Given the description of an element on the screen output the (x, y) to click on. 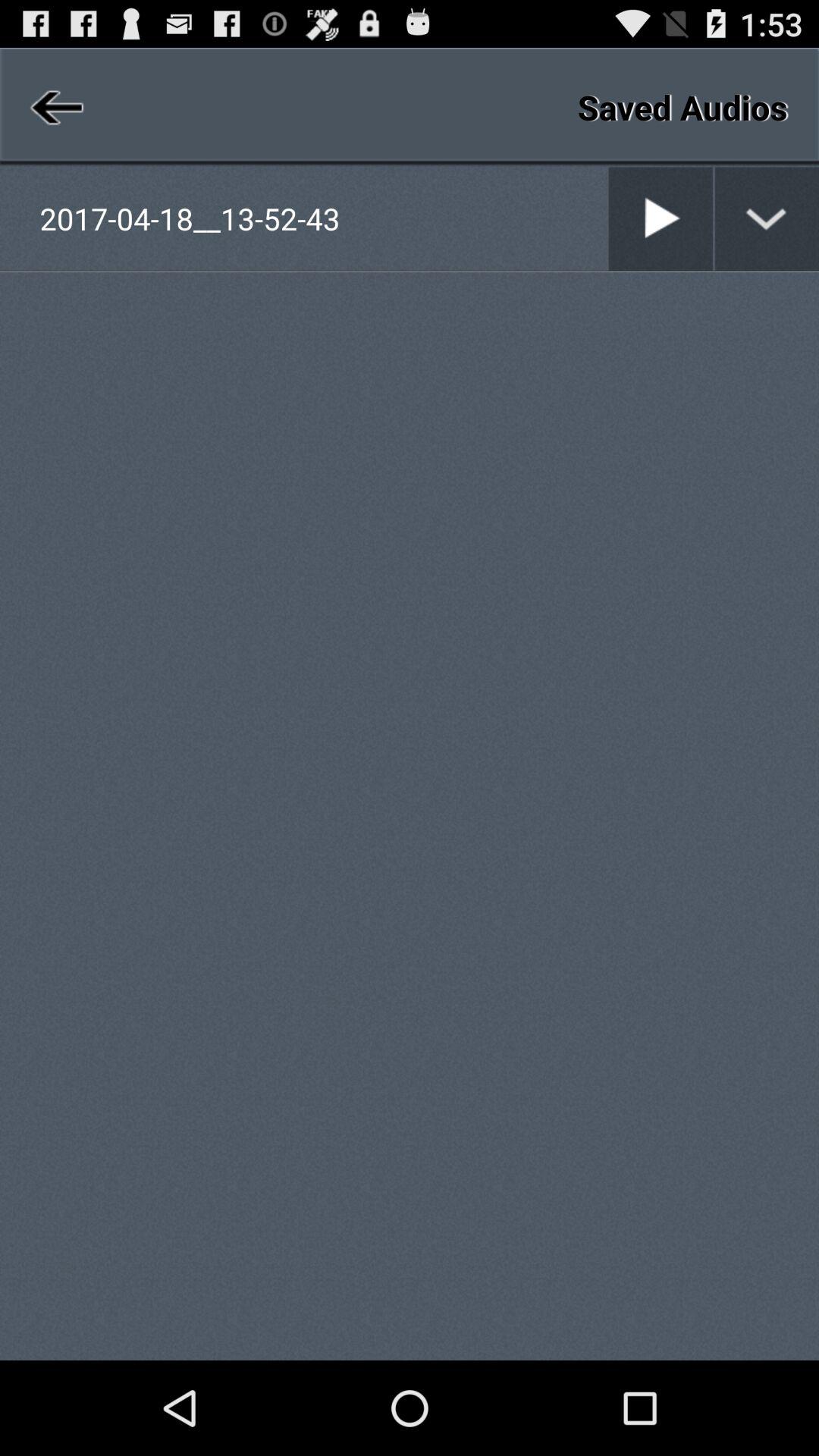
open item at the top left corner (54, 107)
